Given the description of an element on the screen output the (x, y) to click on. 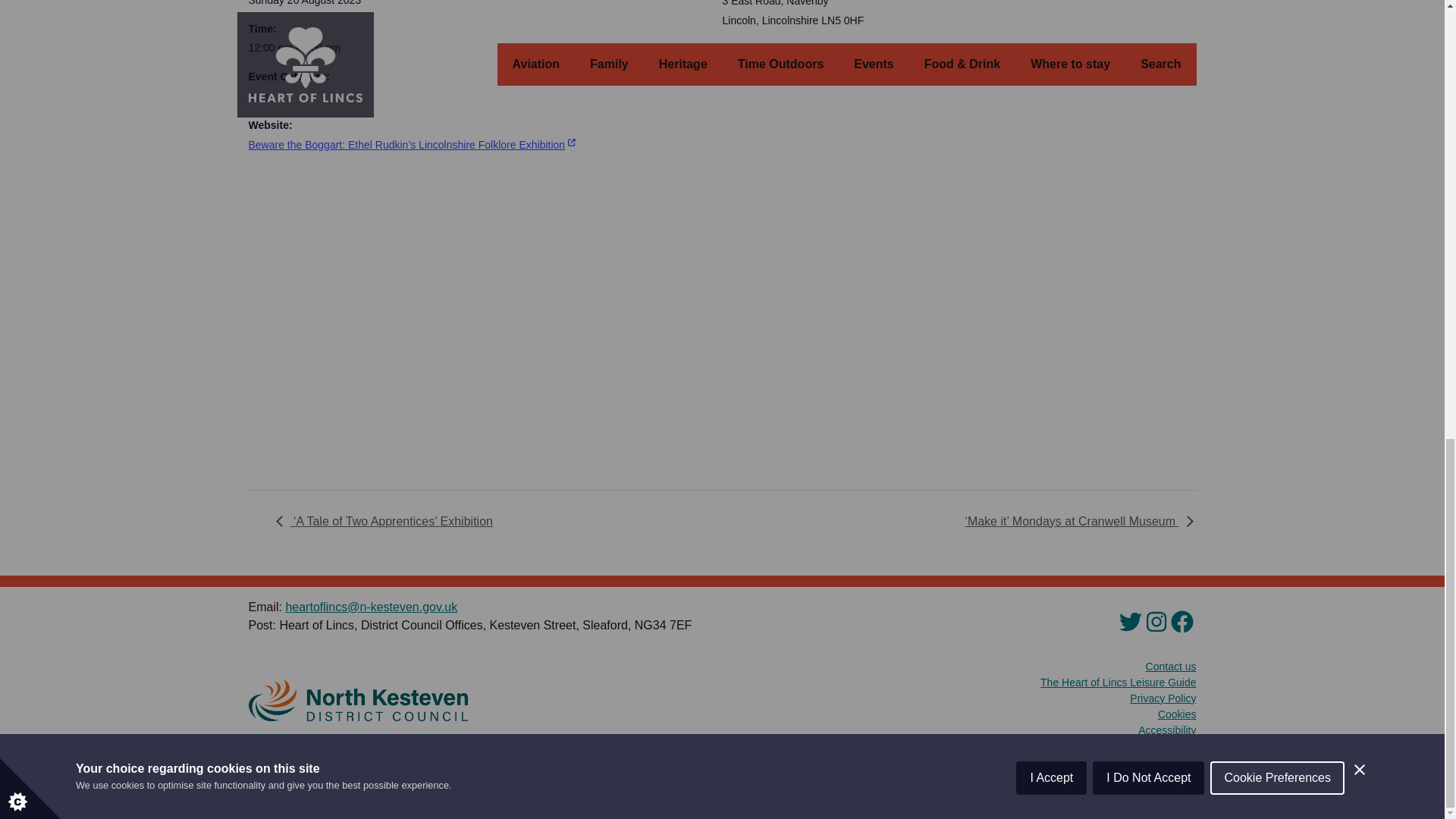
event (262, 96)
